Given the description of an element on the screen output the (x, y) to click on. 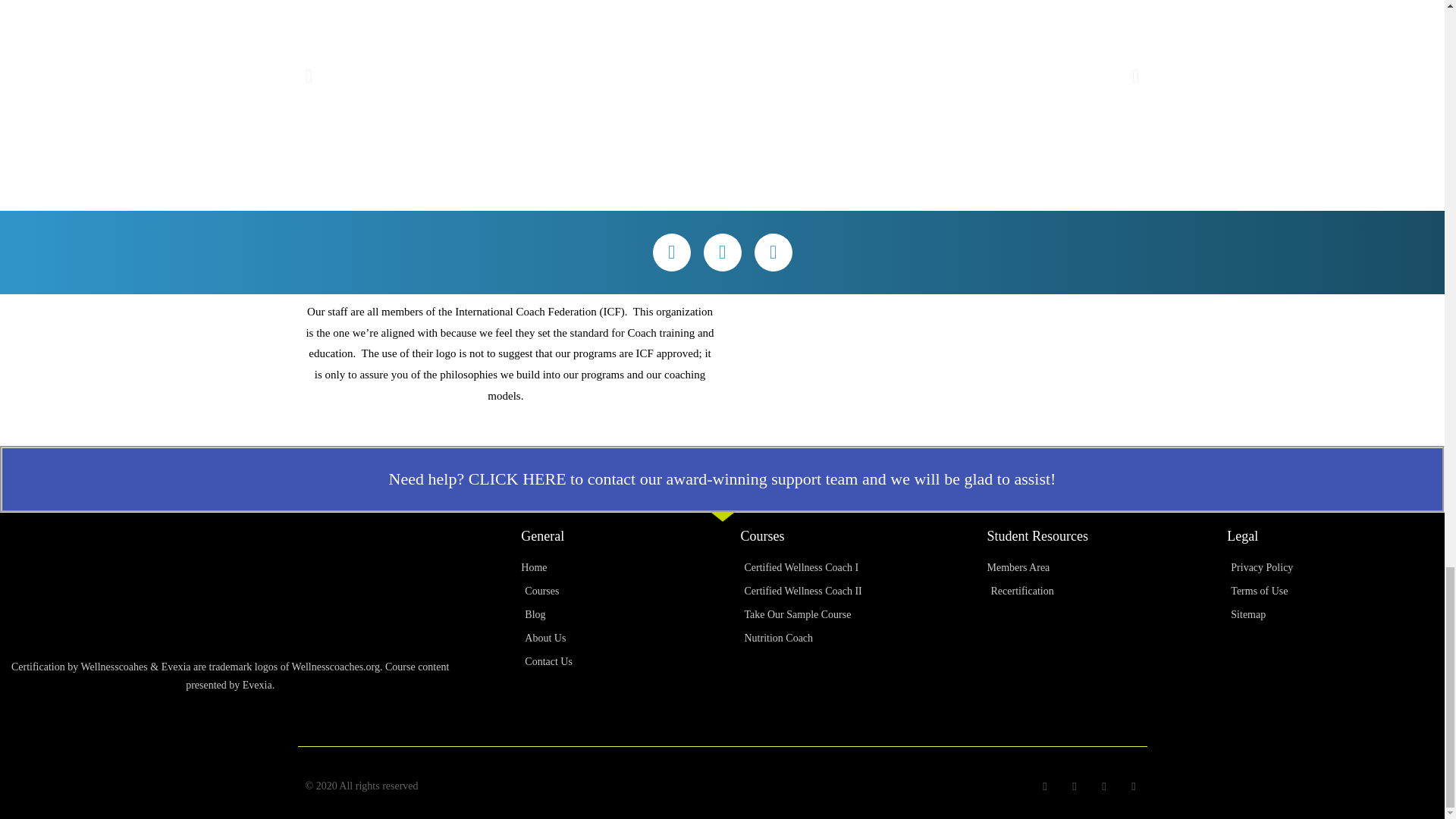
Certified Wellness Coach II (863, 591)
Facebook-f (671, 252)
Contact Us (630, 661)
Instagram (773, 252)
Blog (630, 614)
Certified Wellness Coach I (863, 567)
About Us (630, 638)
Twitter (722, 252)
Home (630, 567)
Courses (630, 591)
